Given the description of an element on the screen output the (x, y) to click on. 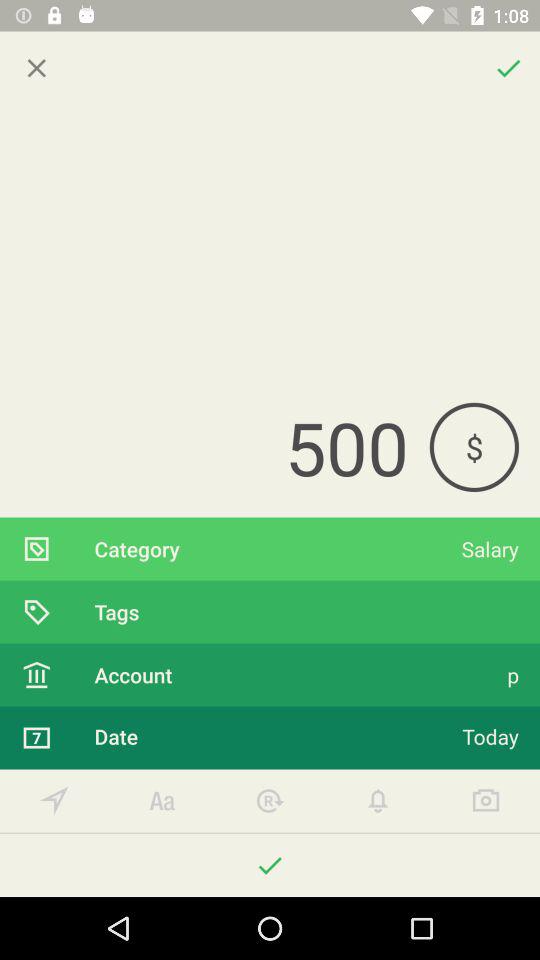
go to location services (54, 800)
